Given the description of an element on the screen output the (x, y) to click on. 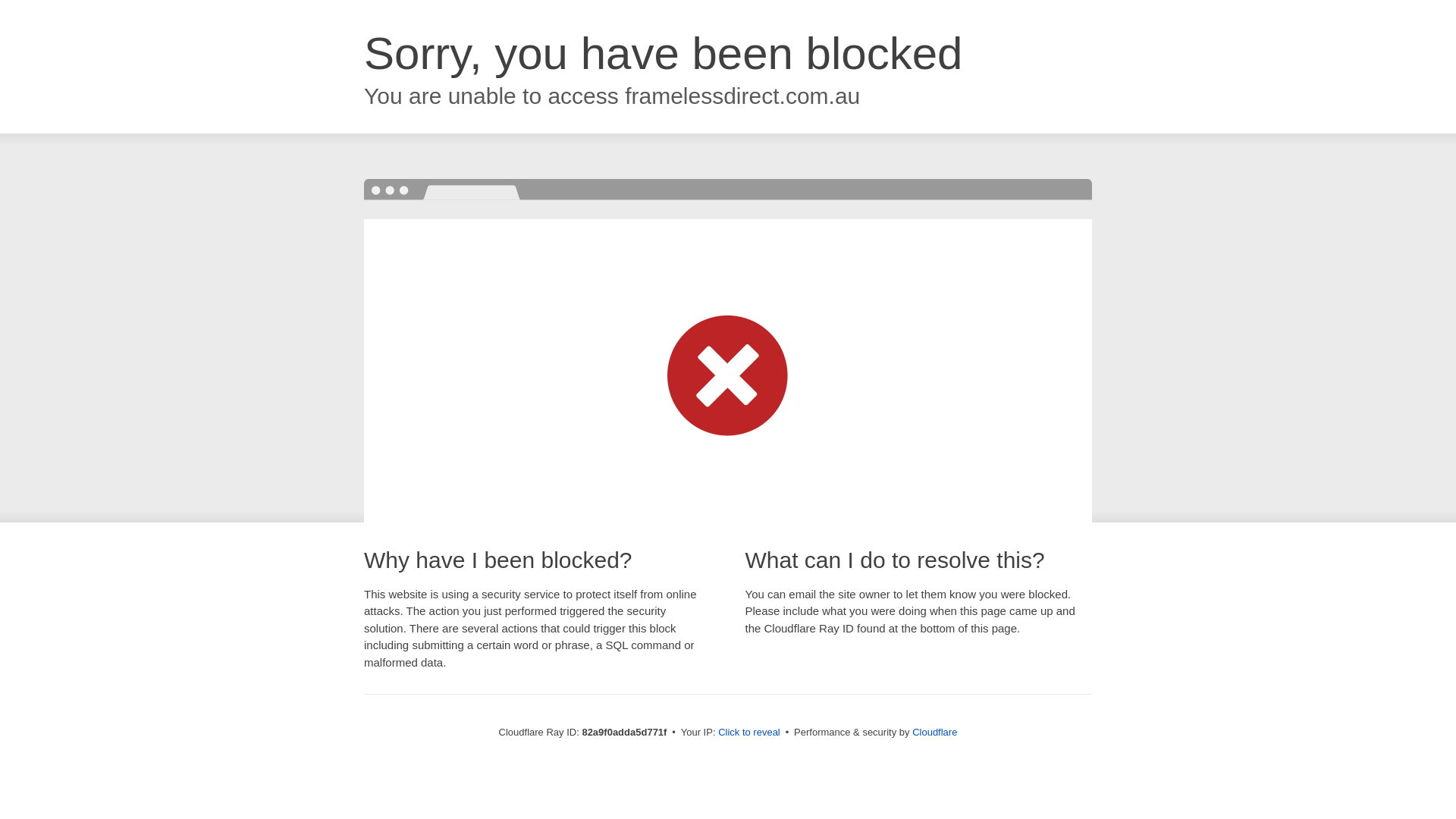
Cloudflare Element type: text (934, 731)
Click to reveal Element type: text (749, 732)
